Given the description of an element on the screen output the (x, y) to click on. 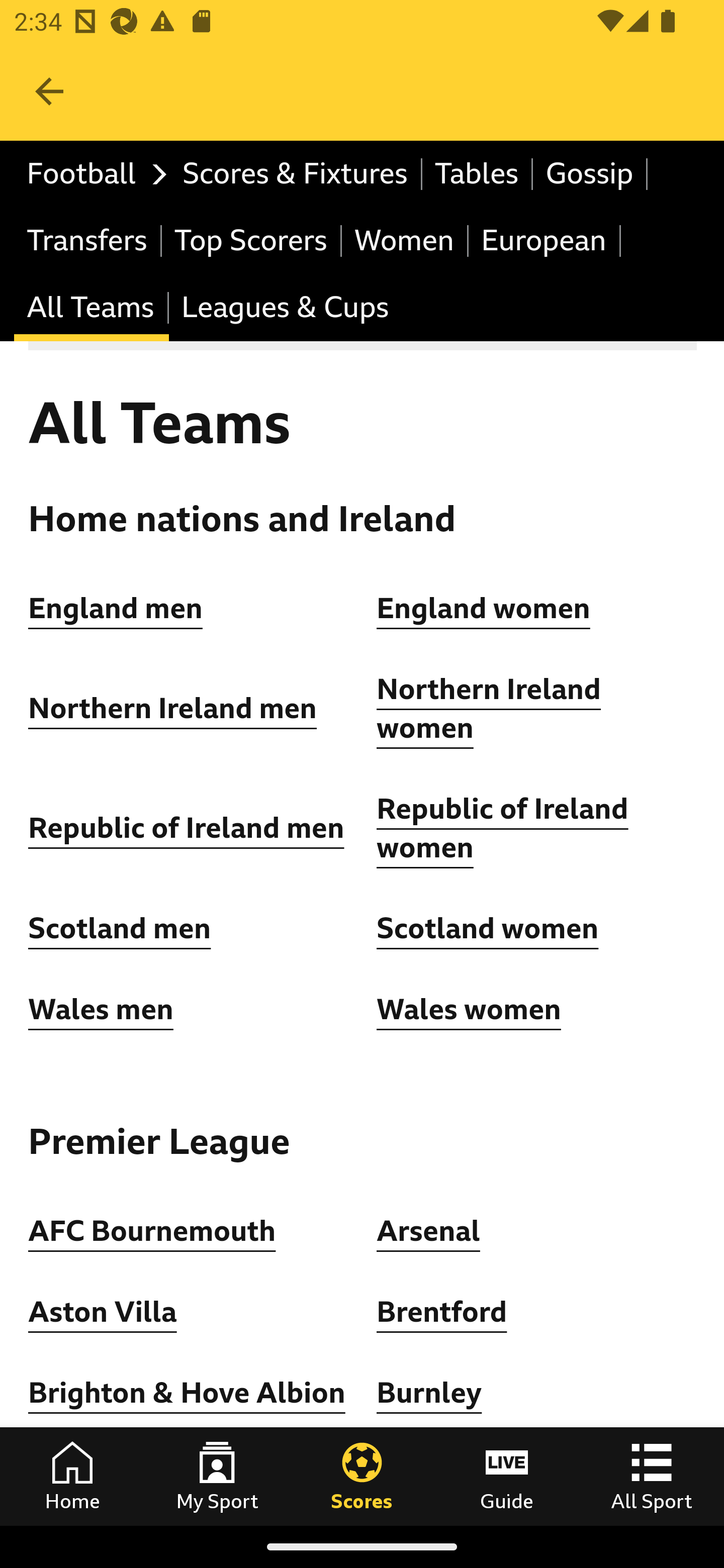
Navigate up (49, 91)
Football (91, 173)
Scores & Fixtures (295, 173)
Tables (477, 173)
Gossip (590, 173)
Transfers (88, 240)
Top Scorers (251, 240)
Women (405, 240)
European (544, 240)
All Teams (91, 308)
Leagues & Cups (284, 308)
England men (116, 608)
England women (483, 608)
Northern Ireland women (488, 709)
Northern Ireland men (173, 708)
Republic of Ireland women (502, 828)
Republic of Ireland men (186, 827)
Scotland men (120, 929)
Scotland women (487, 929)
Wales men (100, 1009)
Wales women (468, 1009)
AFC Bournemouth (151, 1230)
Arsenal (428, 1230)
Aston Villa (102, 1312)
Brentford (442, 1312)
Brighton & Hove Albion (187, 1393)
Burnley (429, 1393)
Home (72, 1475)
My Sport (216, 1475)
Guide (506, 1475)
All Sport (651, 1475)
